Given the description of an element on the screen output the (x, y) to click on. 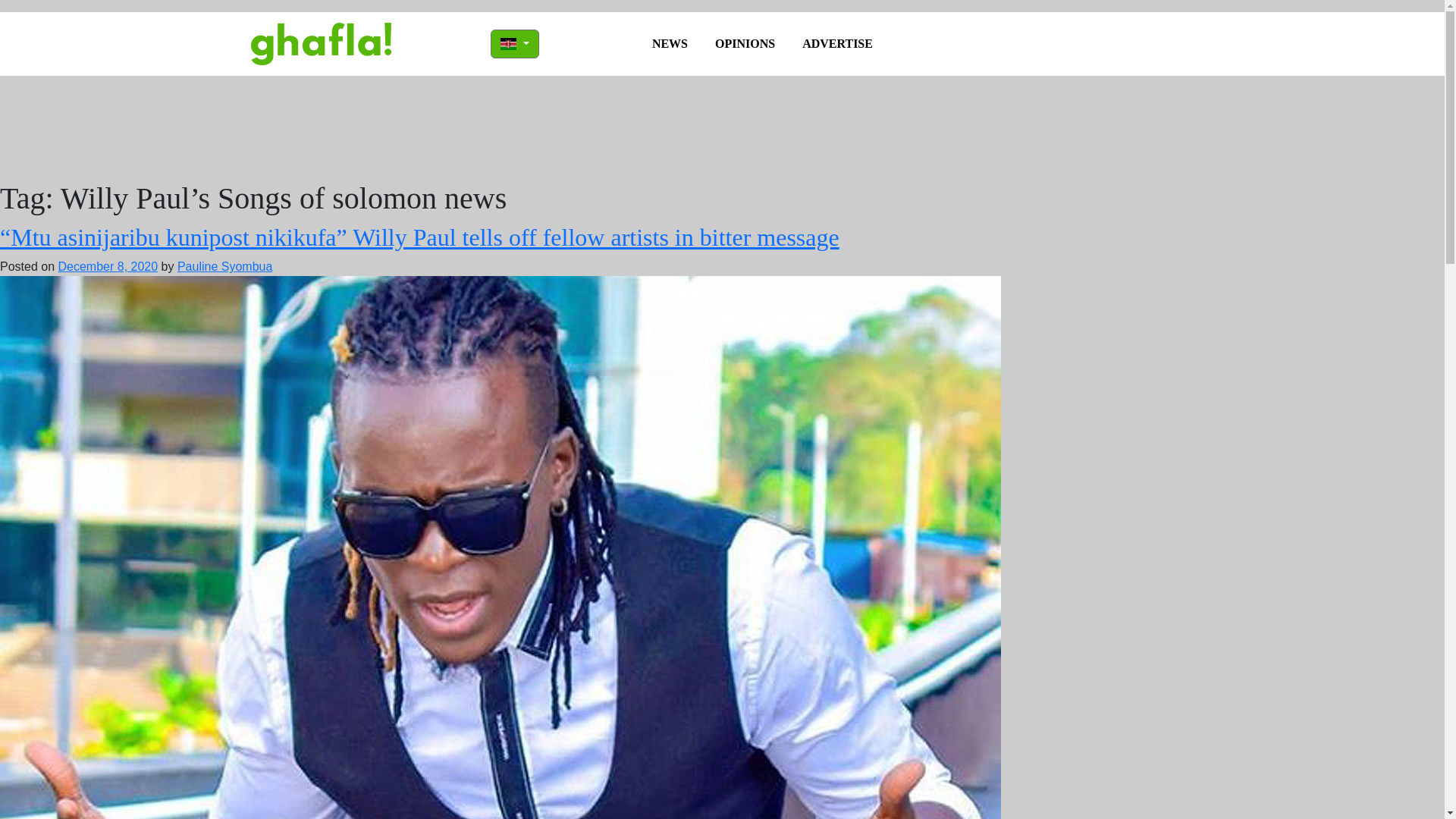
OPINIONS (744, 43)
December 8, 2020 (107, 266)
Pauline Syombua (224, 266)
NEWS (670, 43)
ADVERTISE (837, 43)
